Given the description of an element on the screen output the (x, y) to click on. 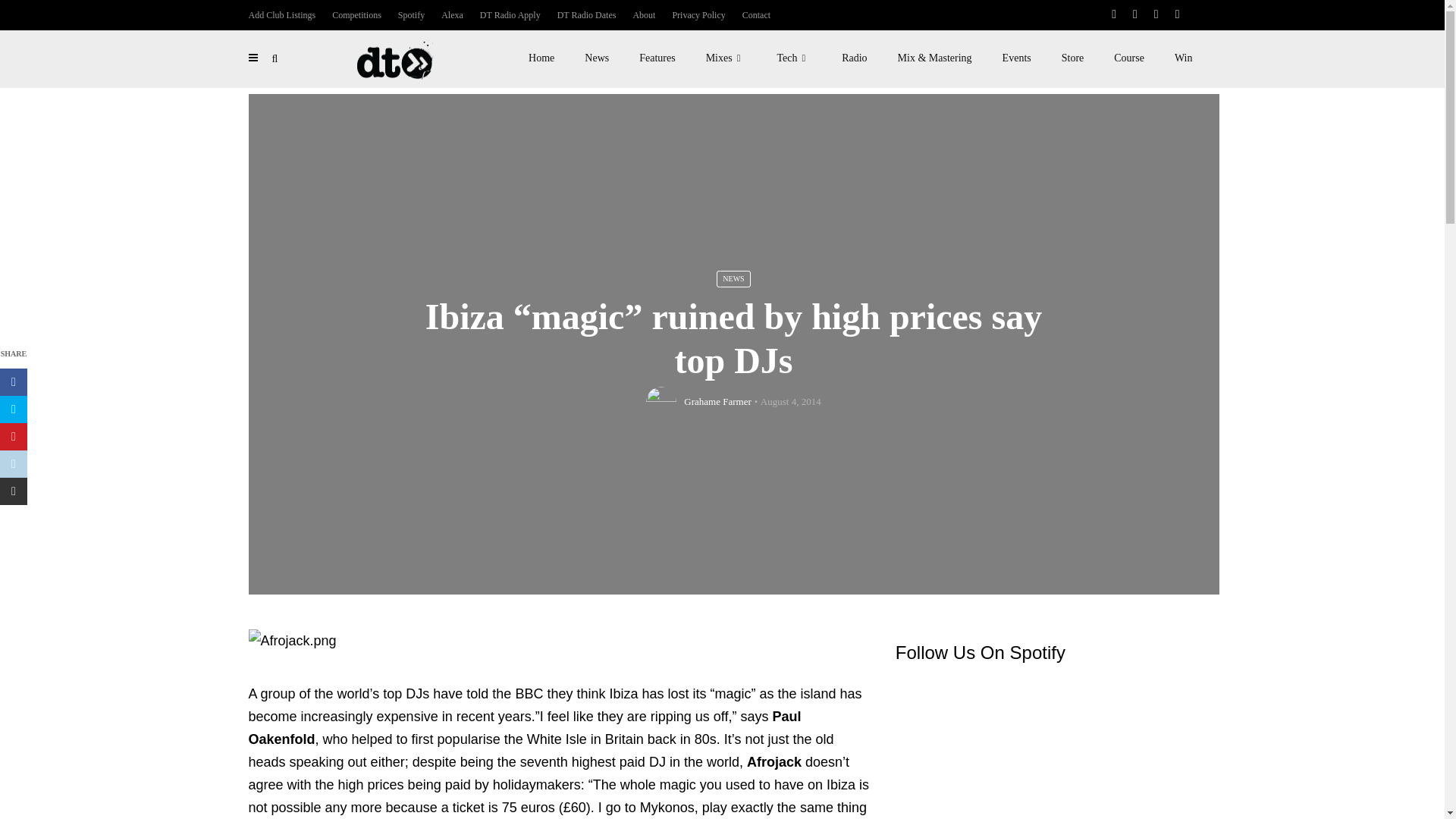
Home (541, 57)
Radio (854, 57)
Tech (794, 57)
Events (1016, 57)
Features (657, 57)
Course (1128, 57)
Spotify Embed: New Music Friday (1045, 749)
News (596, 57)
Store (1072, 57)
Mixes (725, 57)
